Given the description of an element on the screen output the (x, y) to click on. 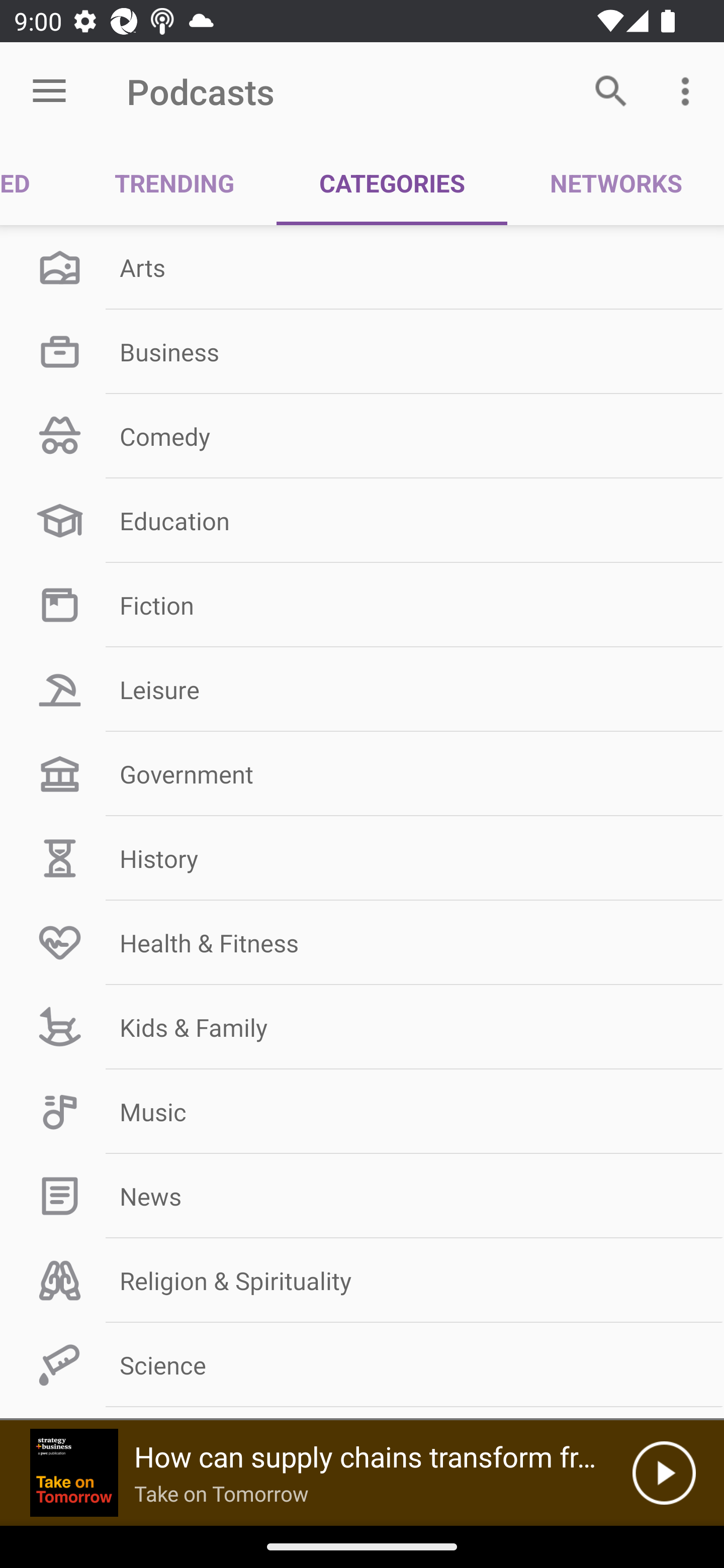
Open menu (49, 91)
Search (611, 90)
More options (688, 90)
TRENDING (174, 183)
CATEGORIES (391, 183)
NETWORKS (615, 183)
Arts (362, 266)
Business (362, 350)
Comedy (362, 435)
Education (362, 520)
Fiction (362, 604)
Leisure (362, 689)
Government (362, 774)
History (362, 858)
Health & Fitness (362, 942)
Kids & Family (362, 1026)
Music (362, 1111)
News (362, 1196)
Religion & Spirituality (362, 1280)
Science (362, 1364)
Play (663, 1472)
